Given the description of an element on the screen output the (x, y) to click on. 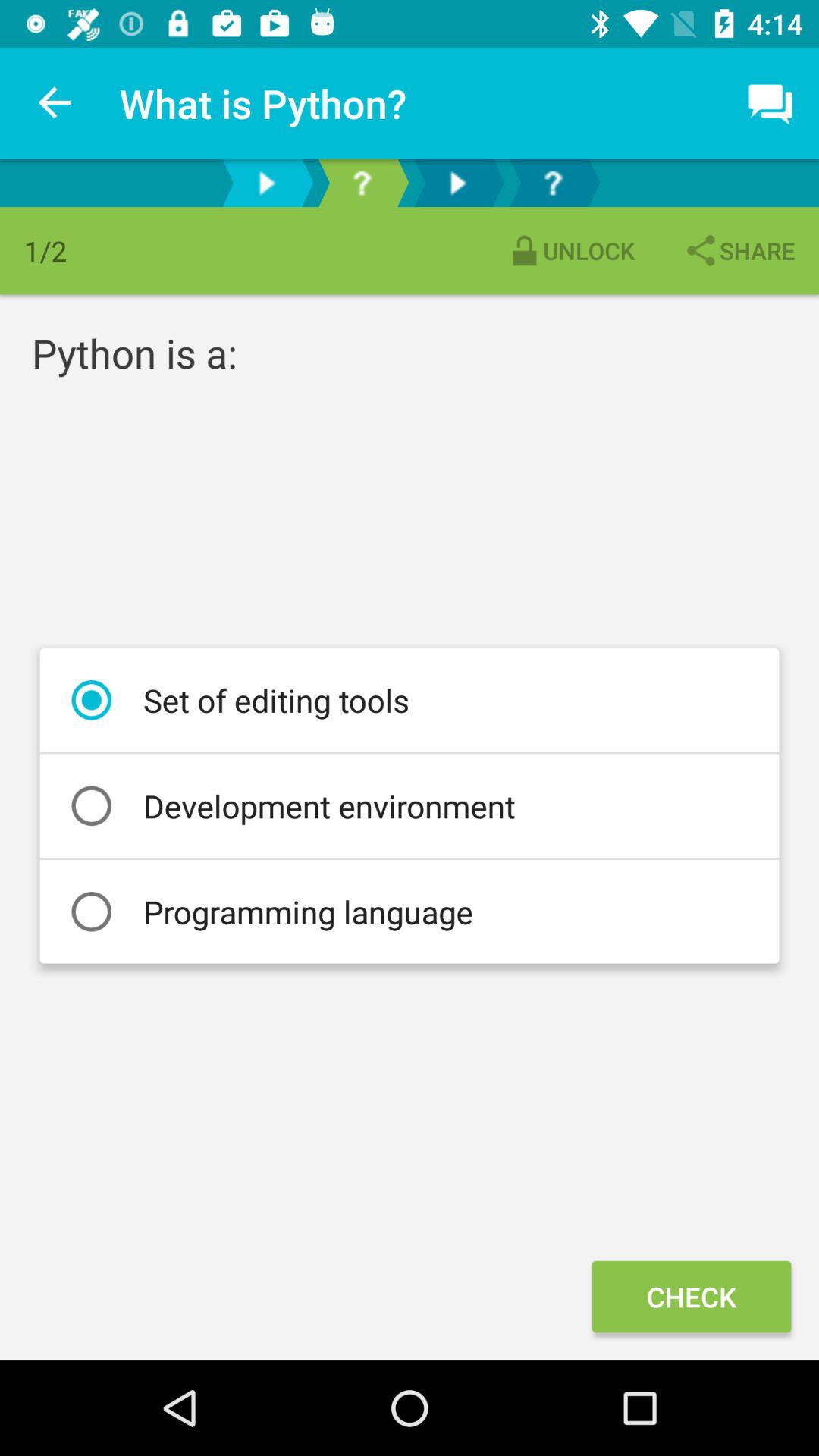
jump until the unlock (570, 250)
